Given the description of an element on the screen output the (x, y) to click on. 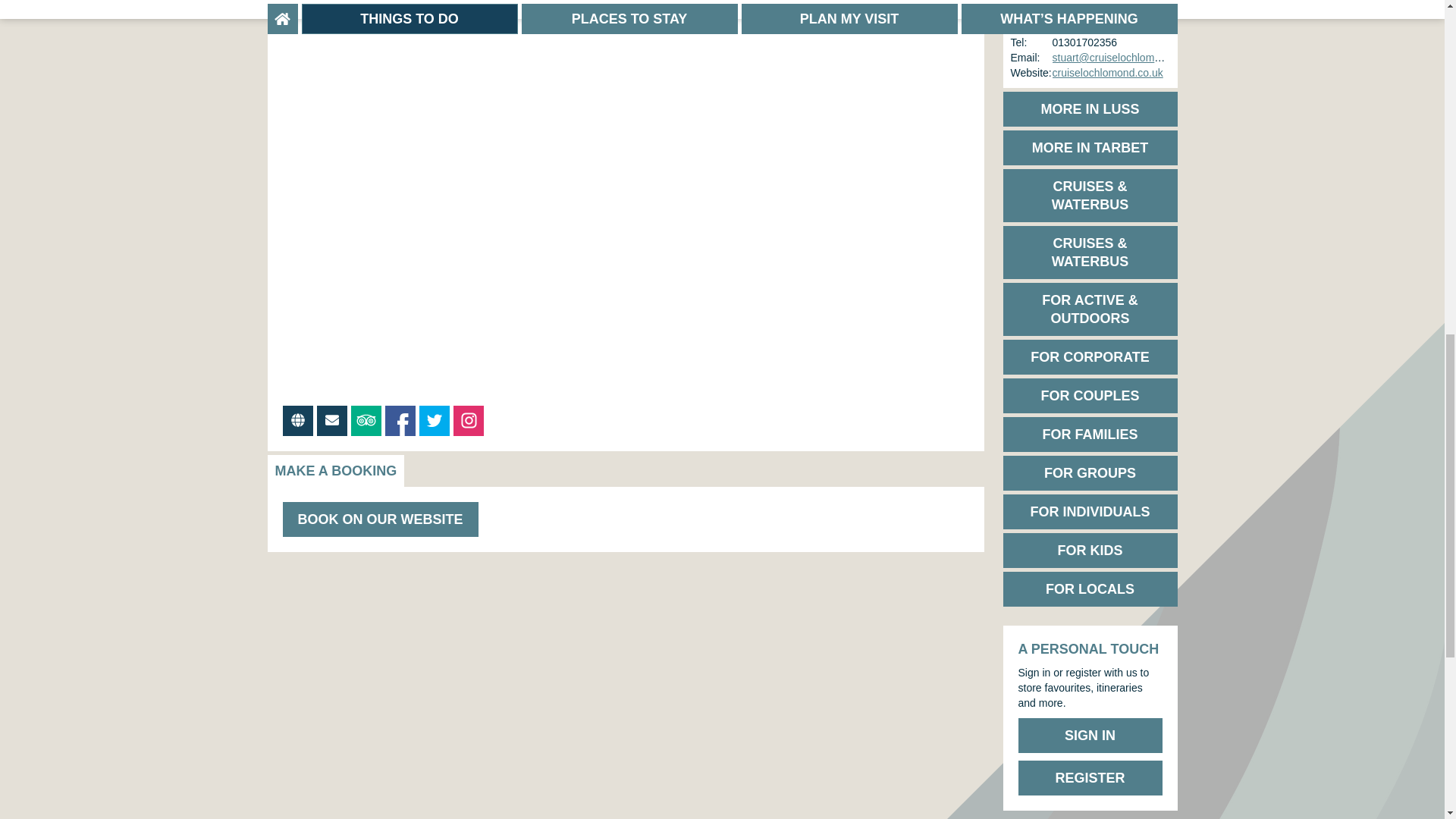
MORE IN LUSS (1089, 108)
BOOK ON OUR WEBSITE (379, 519)
cruiselochlomond.co.uk (1107, 72)
MORE IN TARBET (1089, 147)
